Given the description of an element on the screen output the (x, y) to click on. 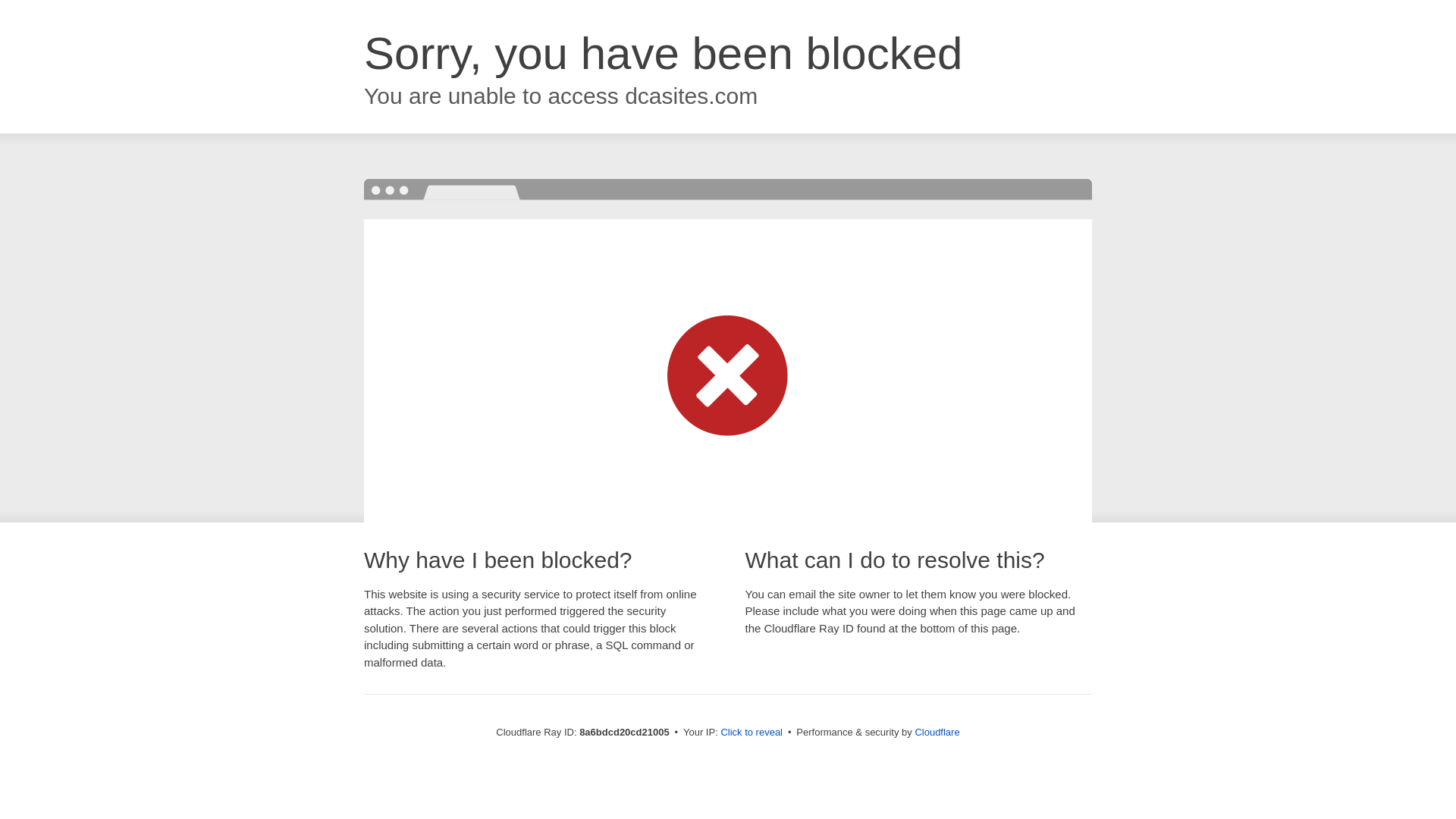
Click to reveal (751, 732)
Cloudflare (936, 731)
